Given the description of an element on the screen output the (x, y) to click on. 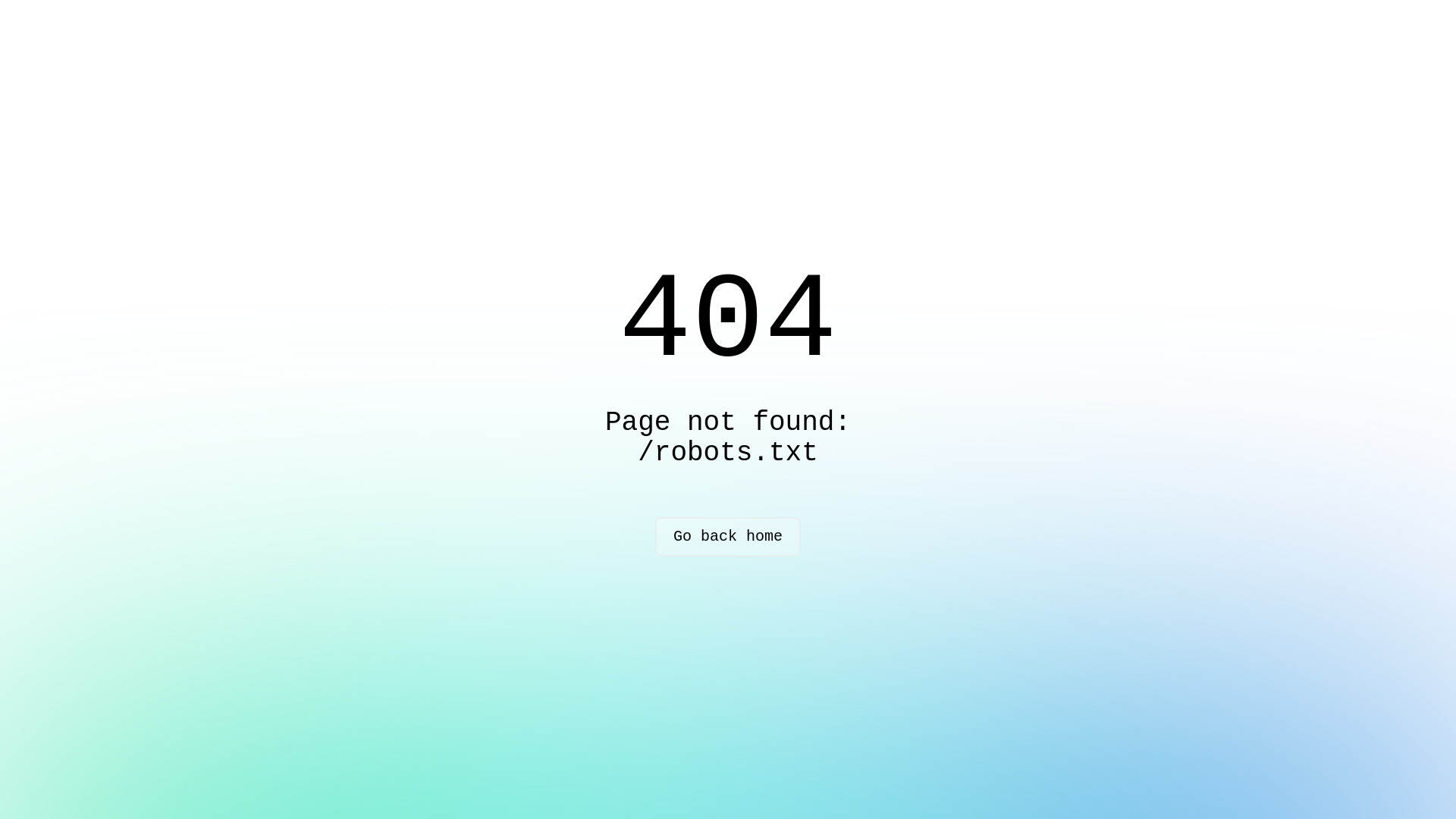
Go back home Element type: text (727, 536)
